Given the description of an element on the screen output the (x, y) to click on. 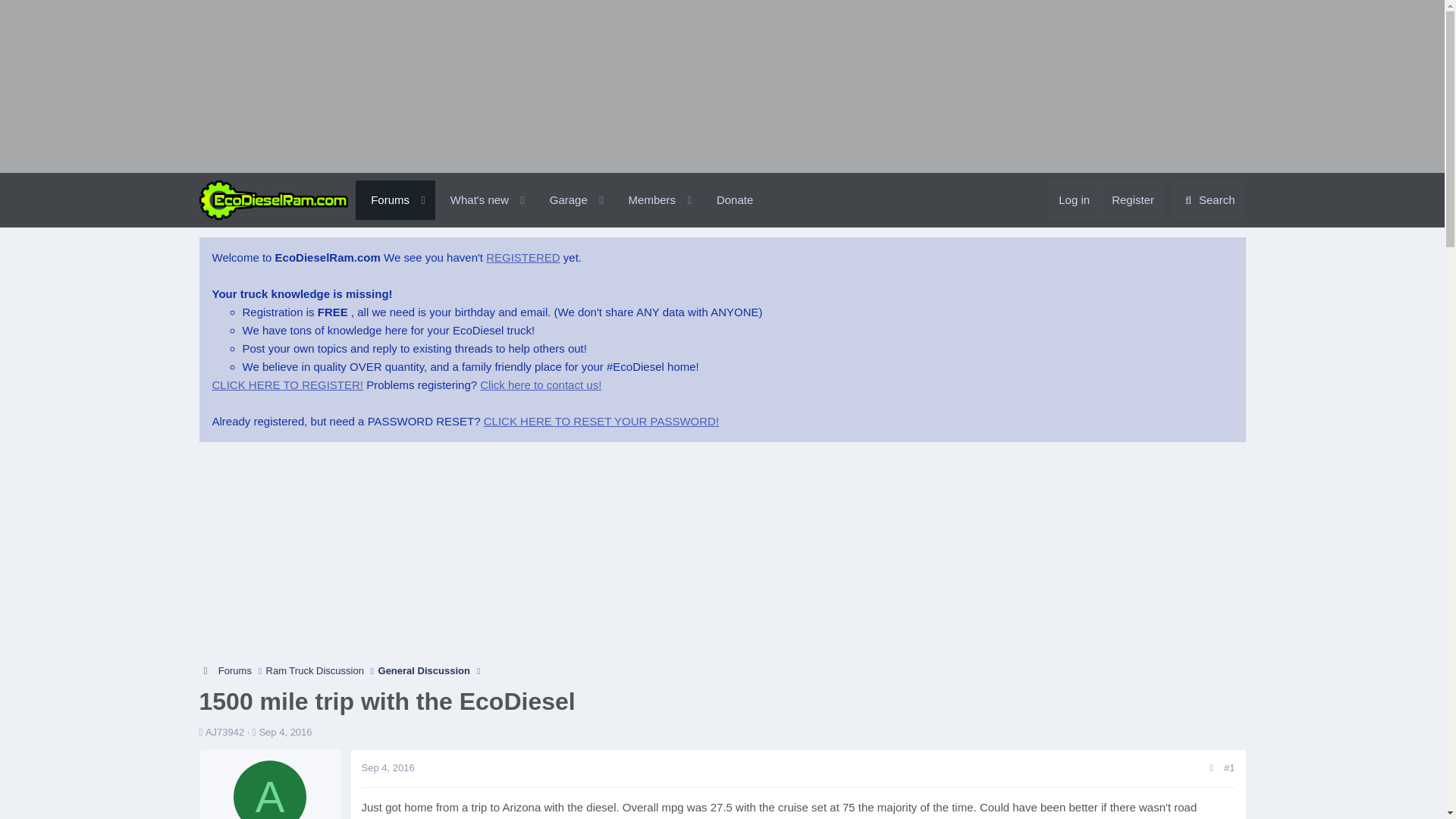
Sep 4, 2016 at 9:21 AM (387, 767)
What's new (473, 200)
Search (1208, 200)
Log in (1074, 200)
Donate (734, 200)
Search (1208, 200)
Garage (561, 216)
Register (561, 200)
